Given the description of an element on the screen output the (x, y) to click on. 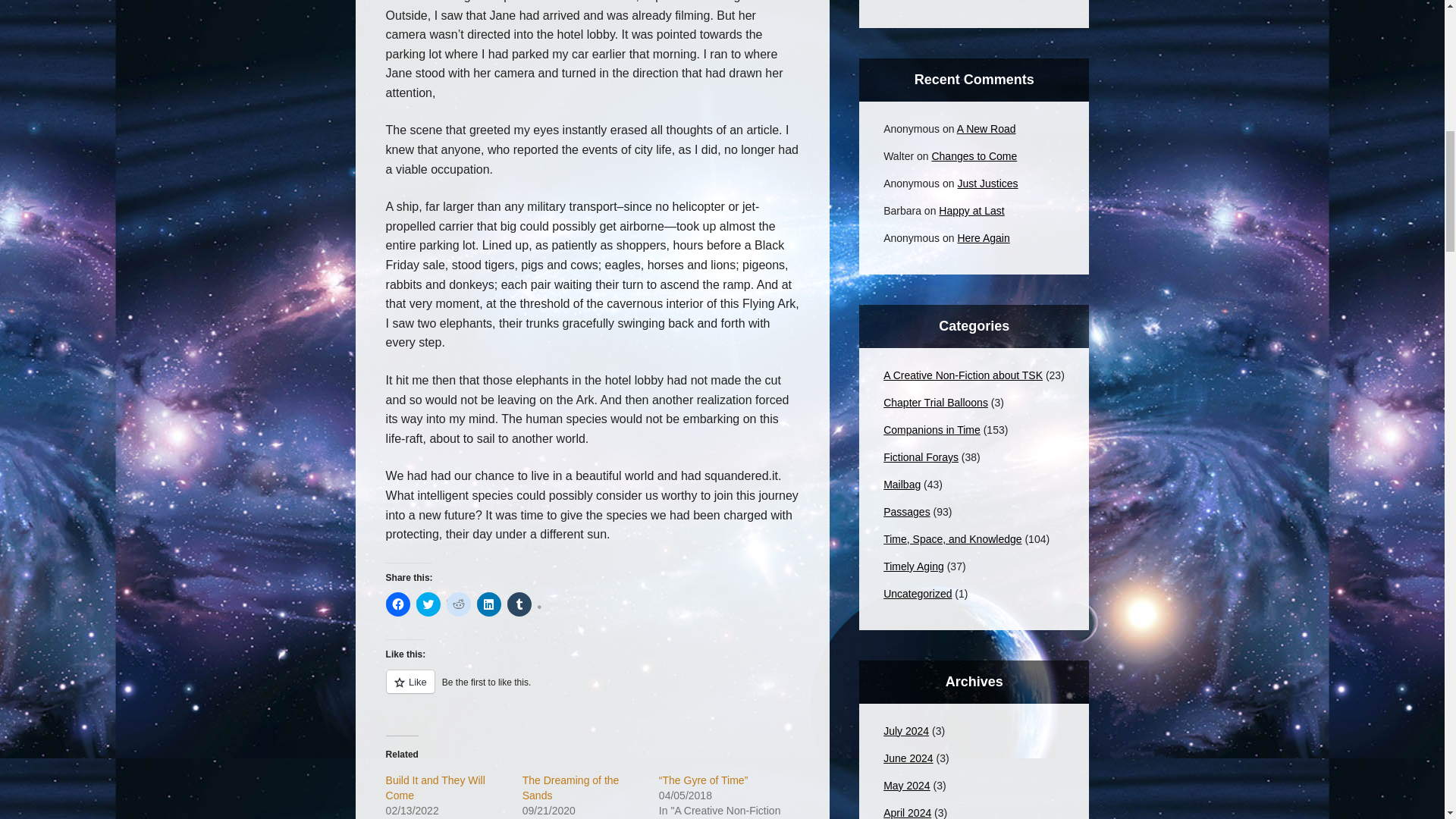
Click to share on Reddit (458, 604)
Build It and They Will Come (434, 787)
Build It and They Will Come (434, 787)
Click to share on Facebook (397, 604)
Click to share on Tumblr (518, 604)
Like or Reblog (592, 690)
The Dreaming of the Sands (571, 787)
Click to share on LinkedIn (488, 604)
The Dreaming of the Sands (571, 787)
Click to share on Twitter (428, 604)
